Given the description of an element on the screen output the (x, y) to click on. 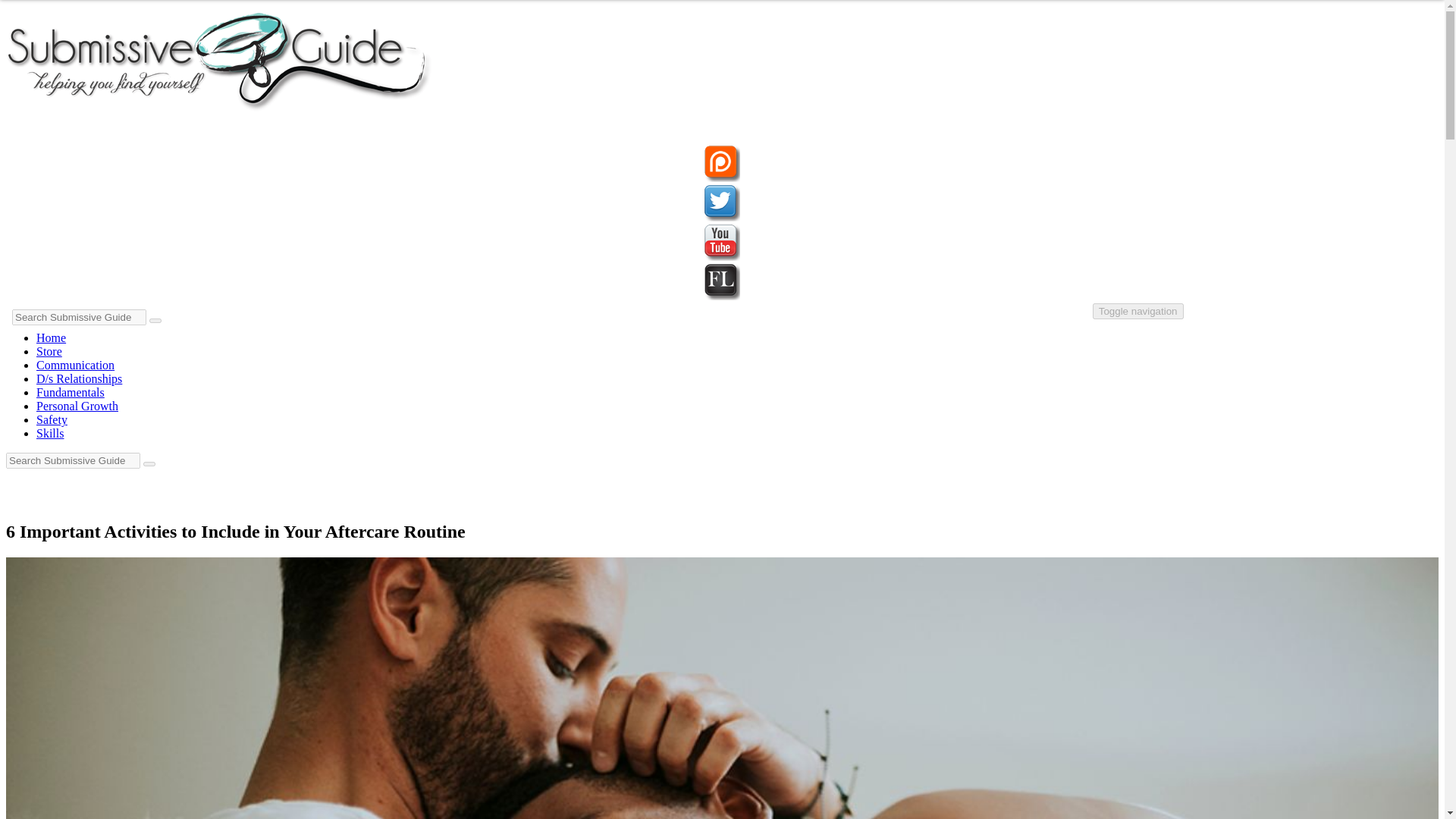
Fundamentals (70, 391)
Home (50, 337)
Support me on Patreon! (721, 177)
Submissive Guide (218, 107)
Toggle navigation (1138, 311)
Visit us on youtube! (721, 256)
Skills (50, 432)
Follow me on twitter! (721, 216)
Safety (51, 419)
Personal Growth (76, 405)
Visit Submissive Guide on FetLife! (721, 295)
Communication (75, 364)
Store (49, 350)
